Given the description of an element on the screen output the (x, y) to click on. 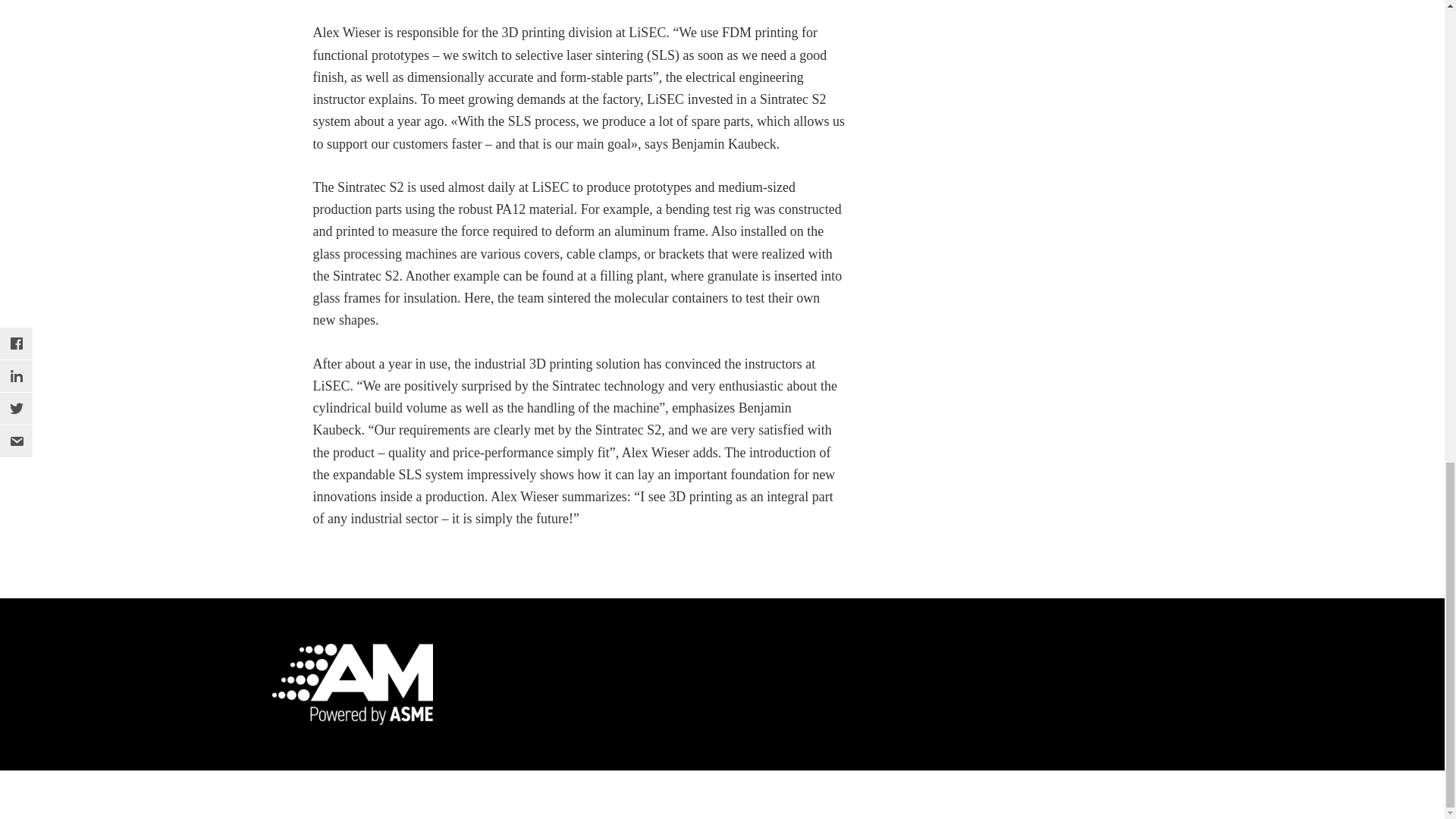
Terms of Use (967, 794)
Privacy Policy (884, 794)
Contact (1033, 794)
